Given the description of an element on the screen output the (x, y) to click on. 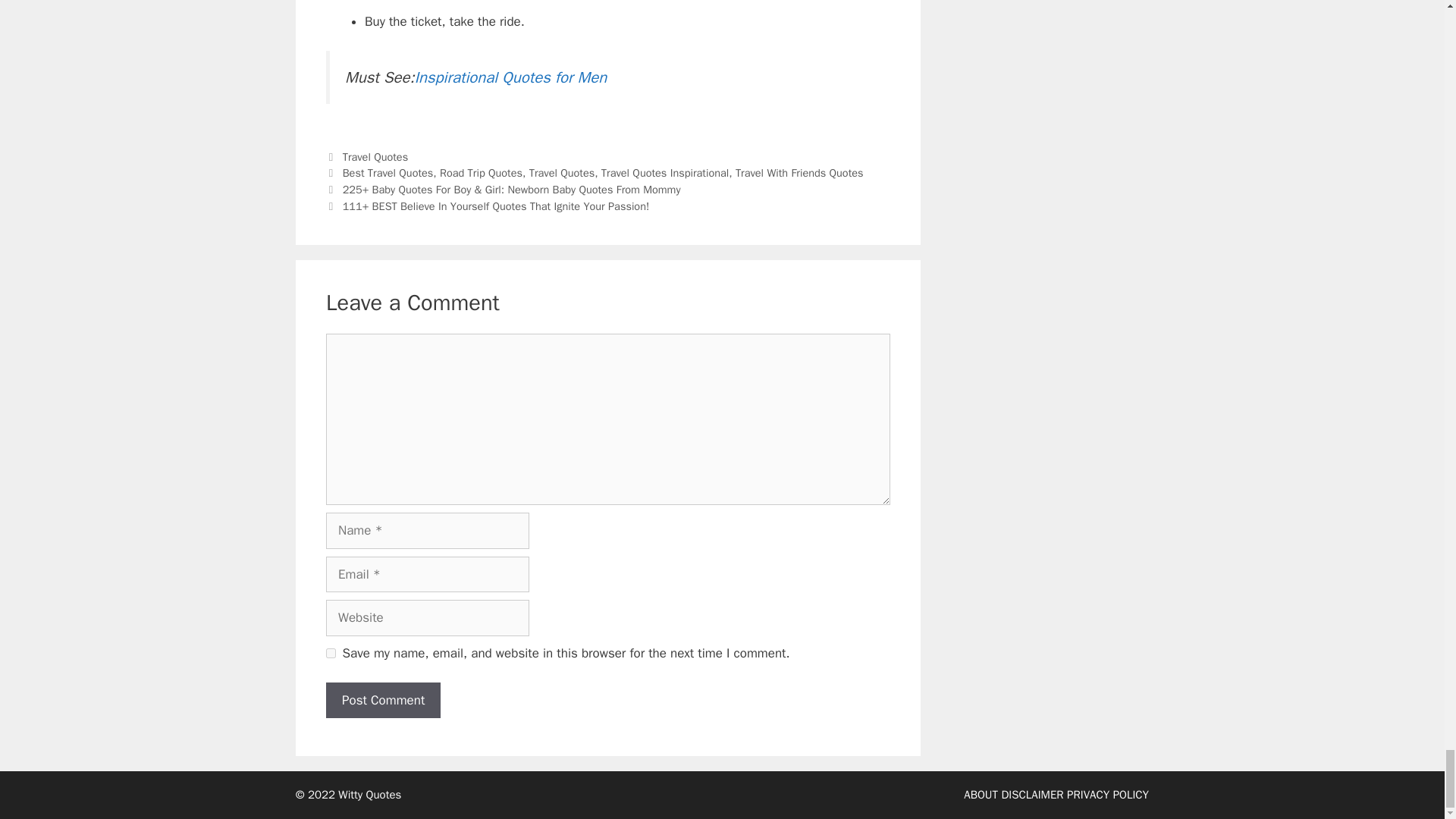
Post Comment (383, 700)
Travel Quotes (562, 172)
Best Travel Quotes (387, 172)
yes (331, 653)
Travel With Friends Quotes (799, 172)
Post Comment (383, 700)
Travel Quotes (375, 156)
Inspirational Quotes for Men (510, 76)
Road Trip Quotes (480, 172)
Travel Quotes Inspirational (665, 172)
